Given the description of an element on the screen output the (x, y) to click on. 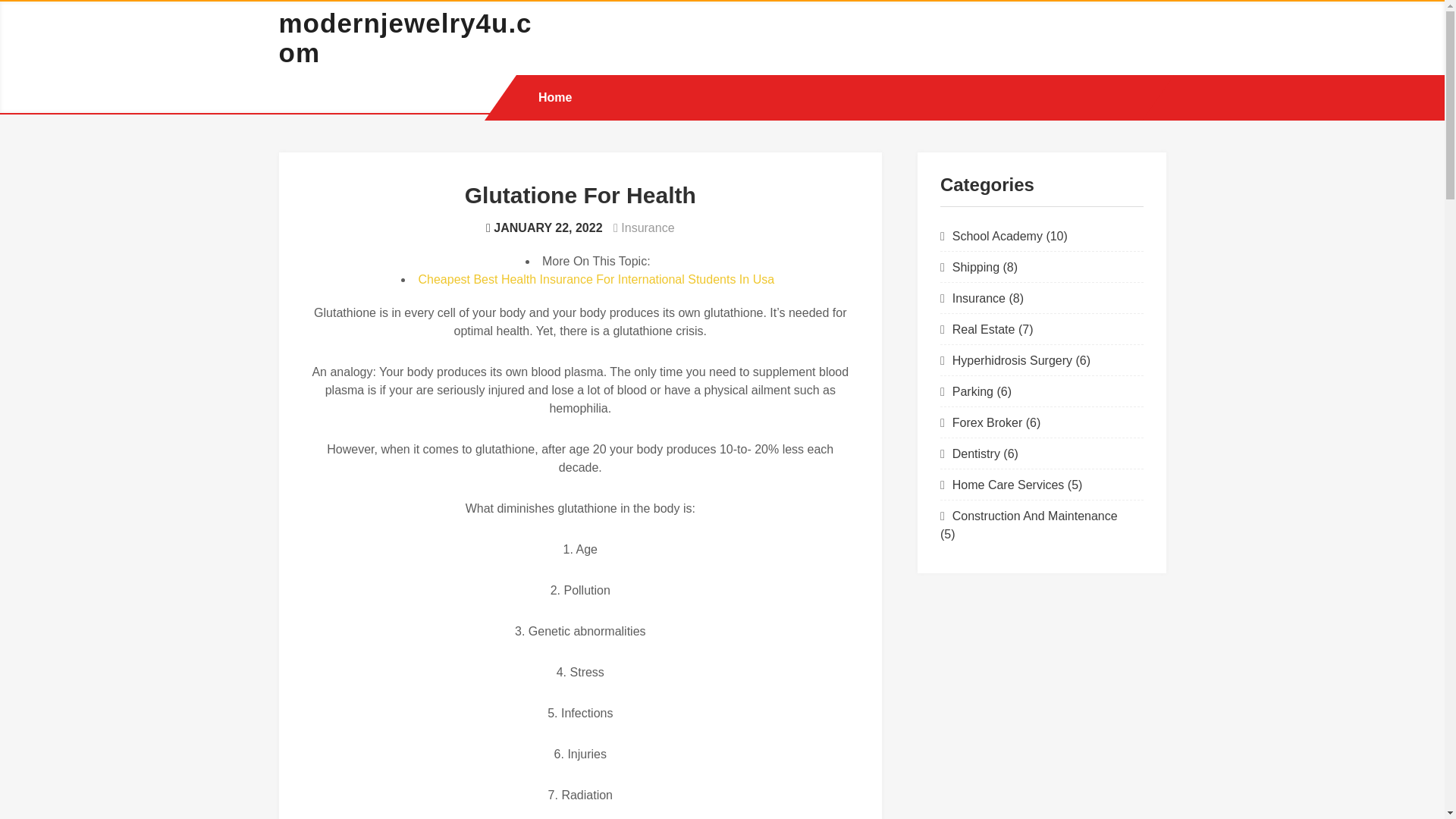
modernjewelry4u.com (405, 37)
Home (555, 97)
Insurance (647, 227)
